Given the description of an element on the screen output the (x, y) to click on. 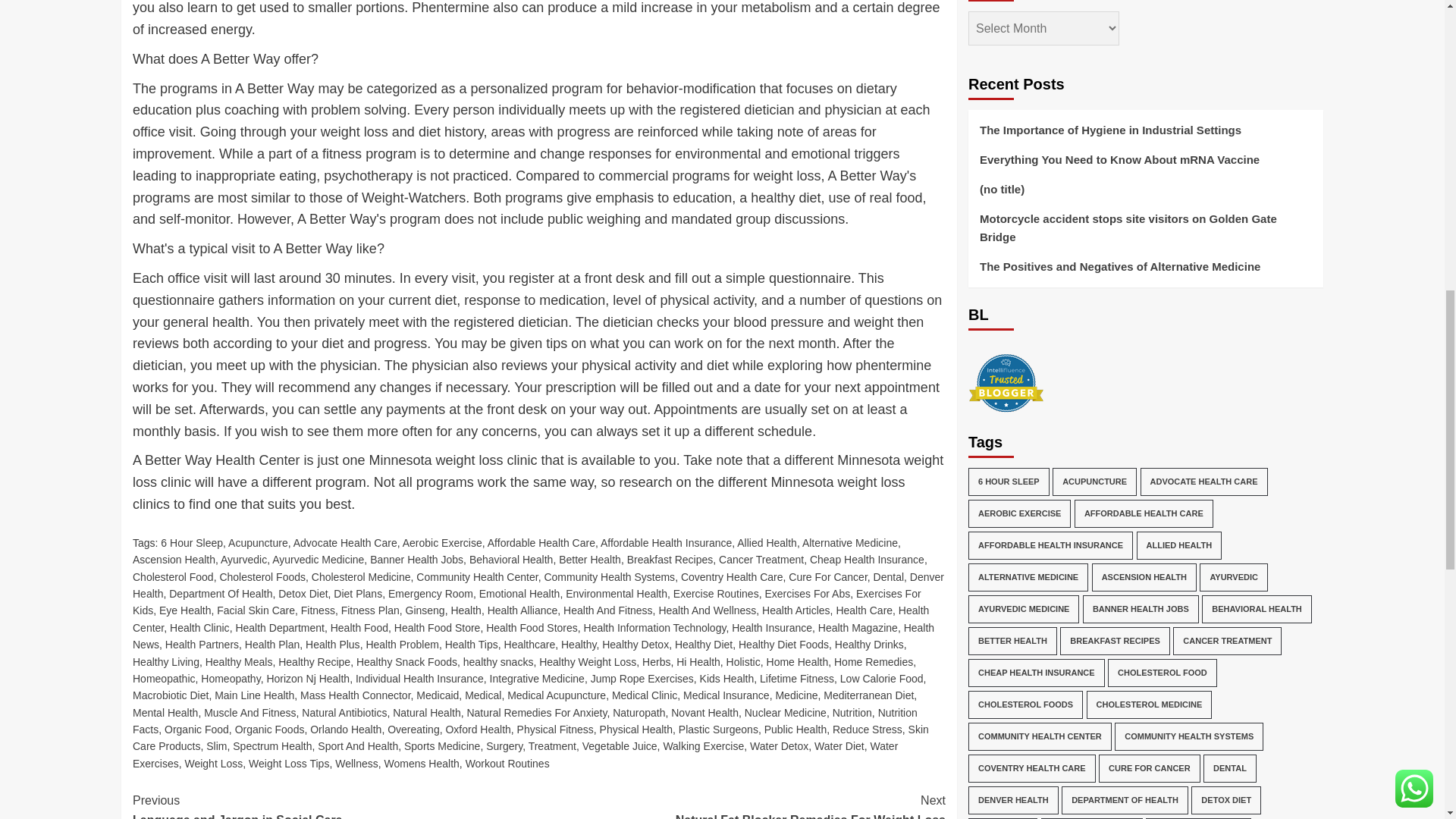
Ayurvedic Medicine (318, 559)
Breakfast Recipes (670, 559)
Behavioral Health (510, 559)
Better Health (590, 559)
Alternative Medicine (850, 542)
Ascension Health (173, 559)
Aerobic Exercise (442, 542)
Ayurvedic (243, 559)
Affordable Health Insurance (665, 542)
Banner Health Jobs (416, 559)
Acupuncture (258, 542)
Affordable Health Care (541, 542)
Allied Health (766, 542)
Advocate Health Care (345, 542)
6 Hour Sleep (191, 542)
